Given the description of an element on the screen output the (x, y) to click on. 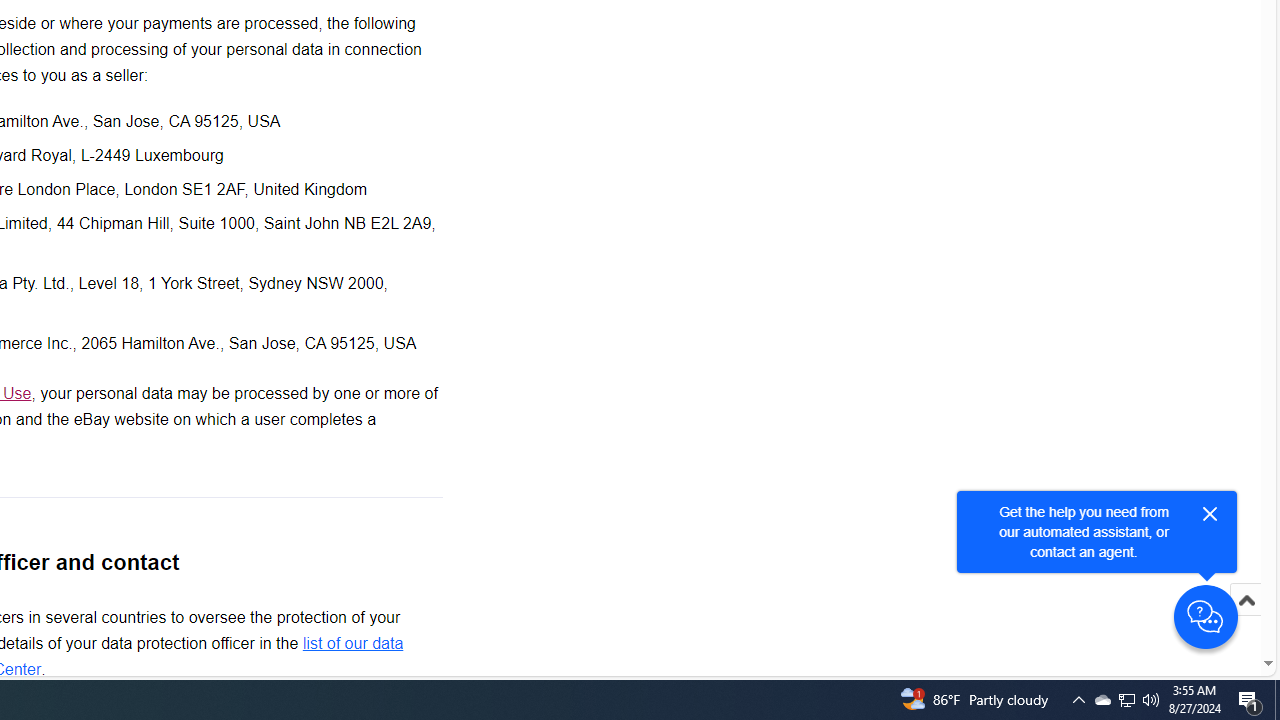
Scroll to top (1246, 599)
Scroll to top (1246, 620)
